Given the description of an element on the screen output the (x, y) to click on. 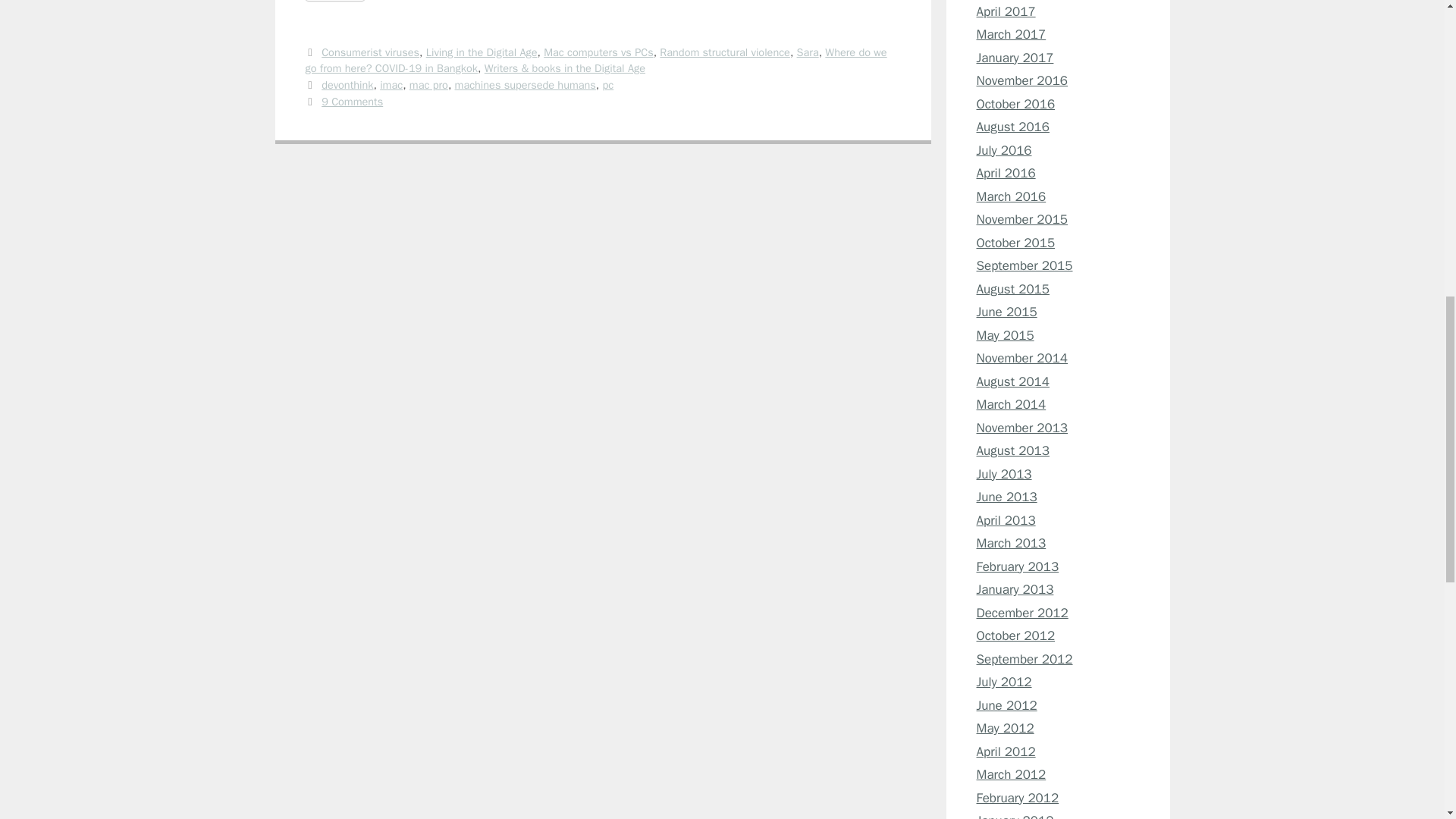
Mac computers vs PCs (598, 51)
Living in the Digital Age (481, 51)
mac pro (428, 84)
Share (334, 0)
devonthink (346, 84)
imac (391, 84)
Sara (807, 51)
Consumerist viruses (370, 51)
Random structural violence (724, 51)
Where do we go from here? COVID-19 in Bangkok (595, 60)
